Given the description of an element on the screen output the (x, y) to click on. 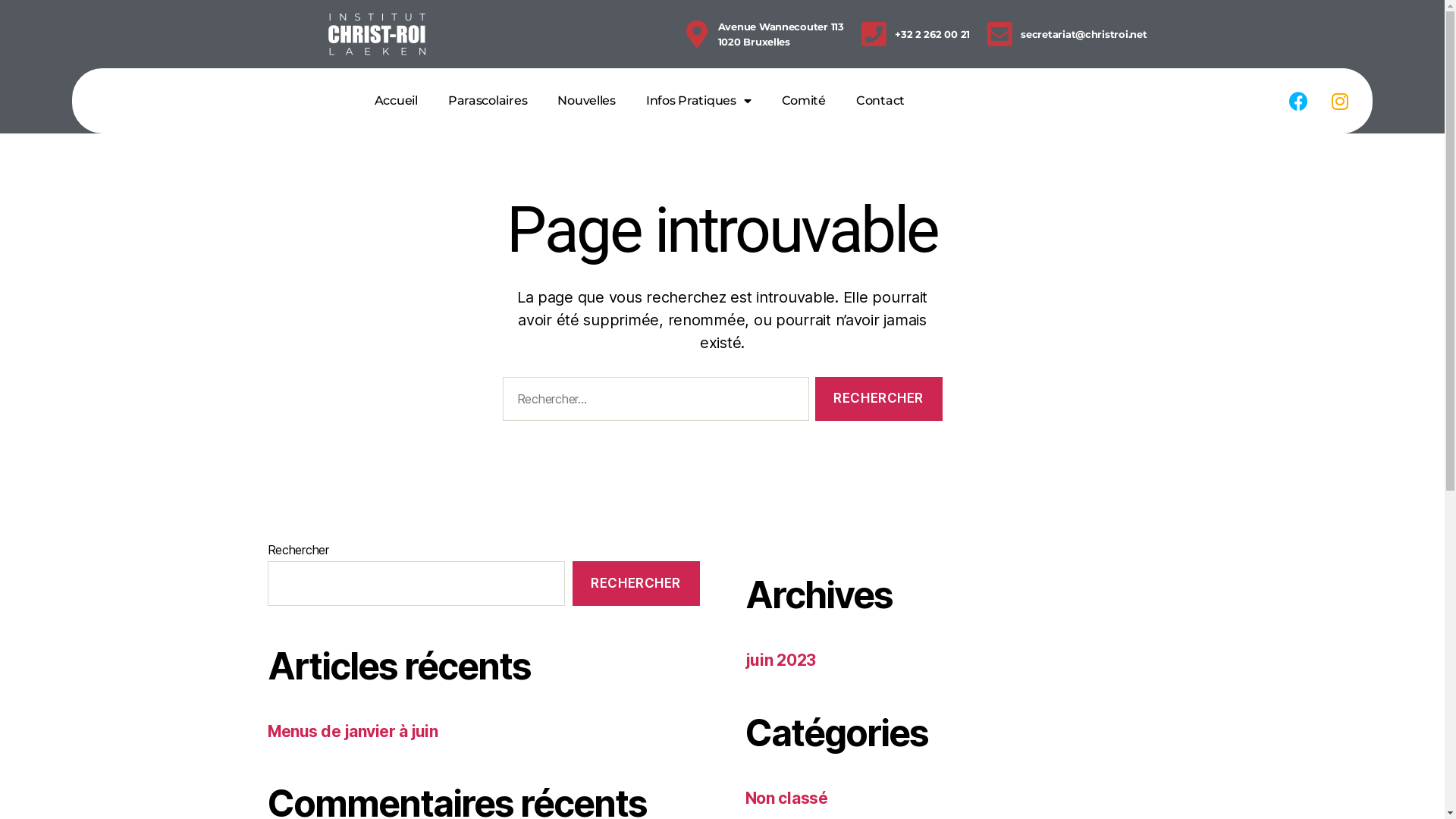
RECHERCHER Element type: text (635, 583)
Accueil Element type: text (396, 100)
juin 2023 Element type: text (779, 659)
Contact Element type: text (879, 100)
Infos Pratiques Element type: text (698, 100)
christroi_logo_blanc Element type: hover (376, 33)
Rechercher Element type: text (878, 398)
Nouvelles Element type: text (586, 100)
Parascolaires Element type: text (487, 100)
